Given the description of an element on the screen output the (x, y) to click on. 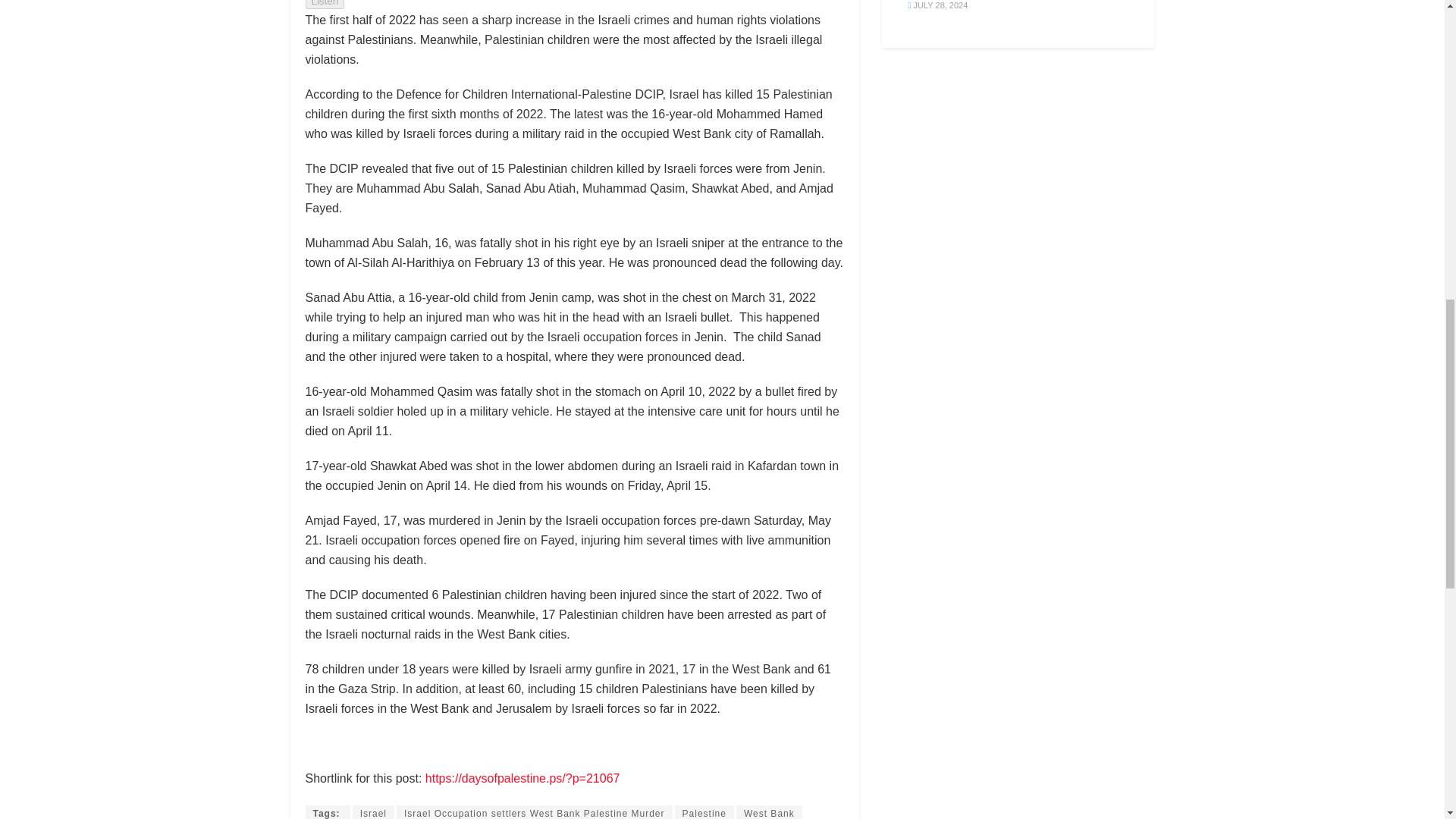
DCIP: Israel Killed 15 Palestinian Children in 2022 (522, 778)
DCIP: Israel Killed 15 Palestinian Children in 2022 (326, 812)
